Given the description of an element on the screen output the (x, y) to click on. 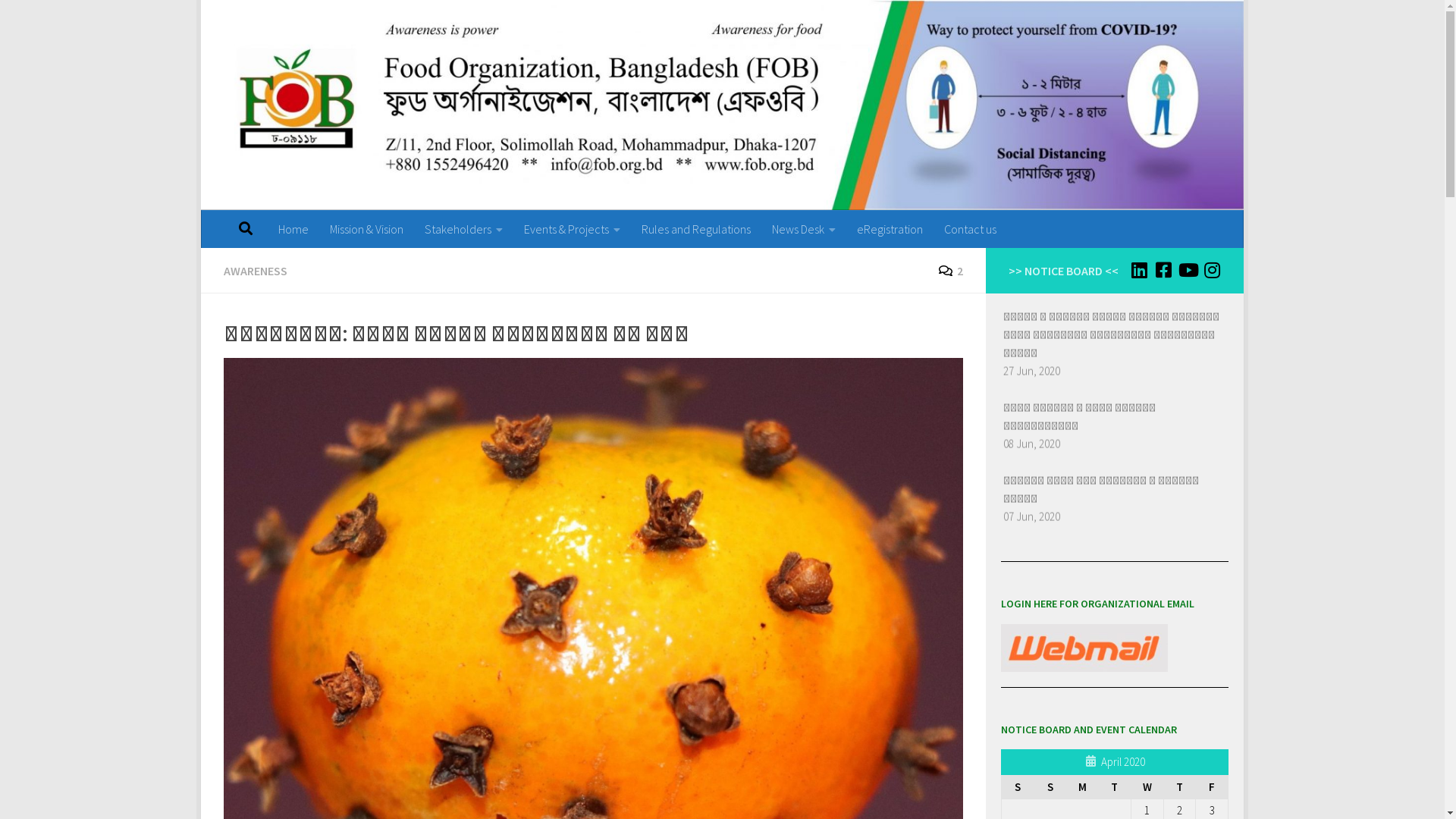
Contact us Element type: text (970, 228)
Follow us on Facebook Element type: hover (1163, 269)
Rules and Regulations Element type: text (695, 228)
Skip to content Element type: text (263, 21)
Stakeholders Element type: text (463, 228)
Events & Projects Element type: text (571, 228)
Follow us on Youtube Element type: hover (1187, 269)
Mission & Vision Element type: text (366, 228)
News Desk Element type: text (803, 228)
Follow us on Linkedin Element type: hover (1138, 269)
eRegistration Element type: text (889, 228)
Follow us on Instagram Element type: hover (1211, 269)
Home Element type: text (293, 228)
AWARENESS Element type: text (255, 270)
The winners' list of FIIC 2020 is announced
10 Jan, 2021 Element type: text (1098, 305)
2 Element type: text (950, 270)
